Given the description of an element on the screen output the (x, y) to click on. 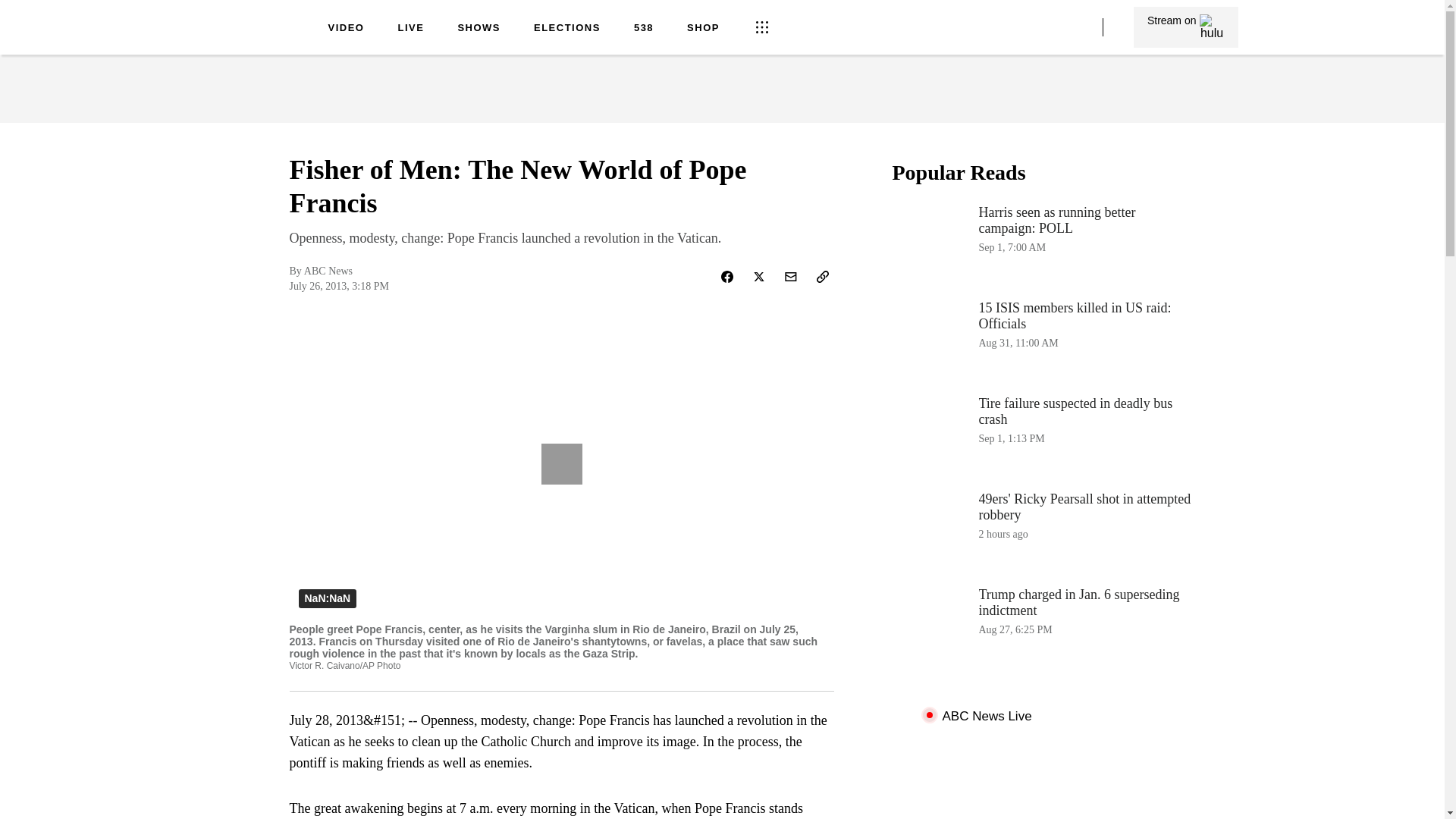
VIDEO (345, 28)
LIVE (410, 28)
SHOP (703, 28)
ELECTIONS (1043, 242)
ABC News (1043, 529)
538 (566, 28)
Stream on (250, 38)
